Given the description of an element on the screen output the (x, y) to click on. 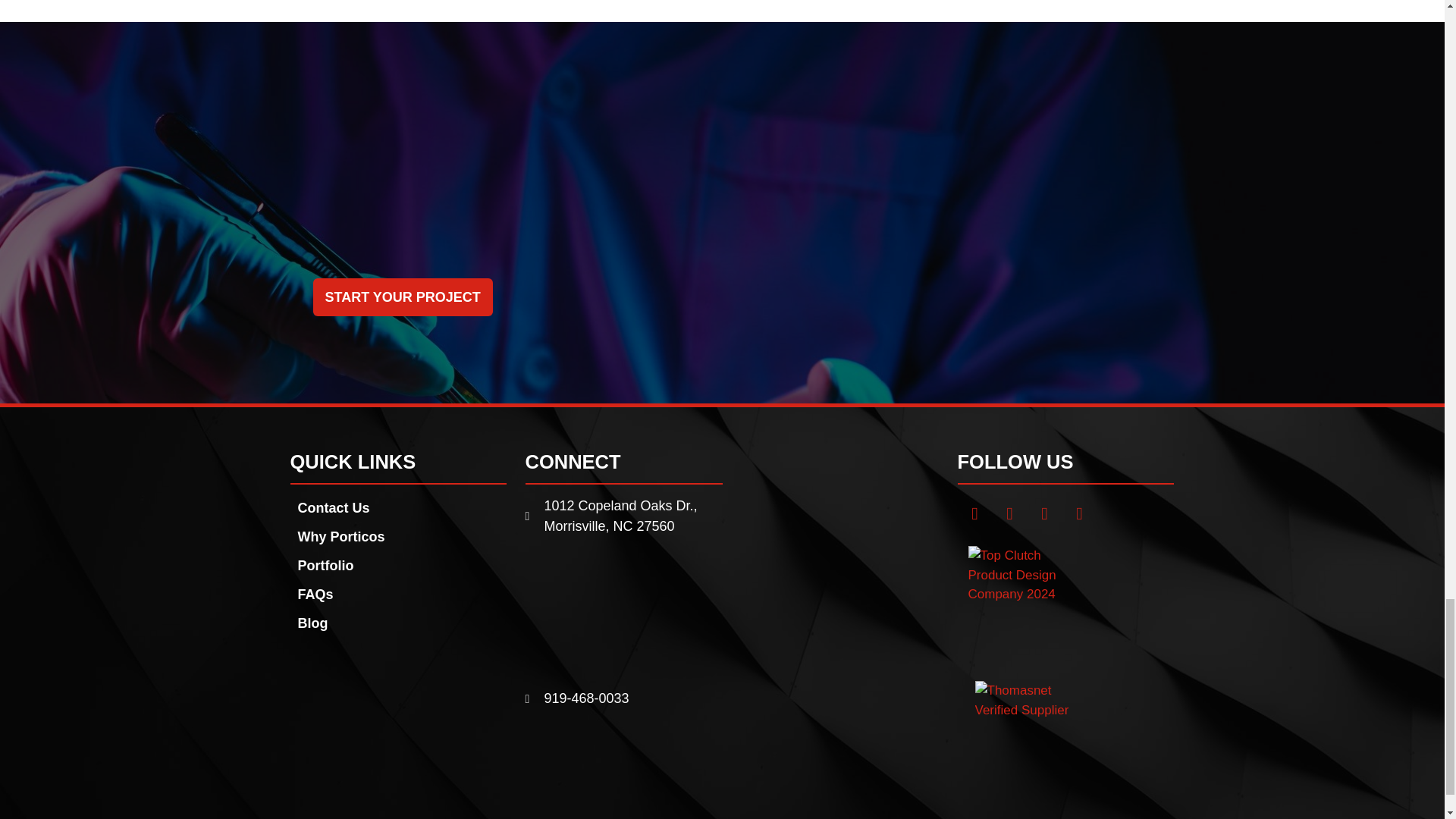
1012 Copeland Oaks Drive, Morrisville, NC 27560 (623, 612)
